Given the description of an element on the screen output the (x, y) to click on. 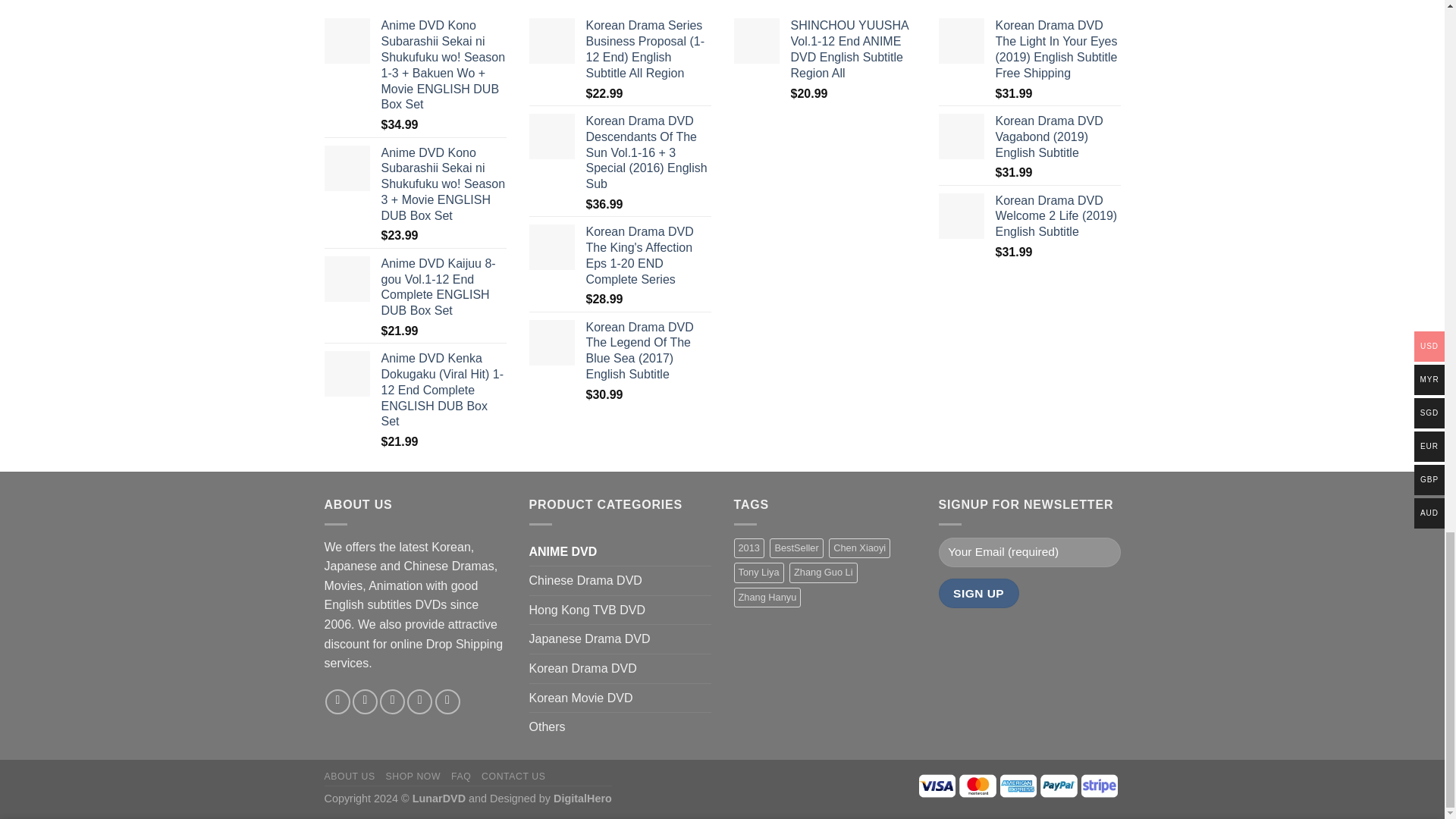
Sign Up (979, 593)
